Given the description of an element on the screen output the (x, y) to click on. 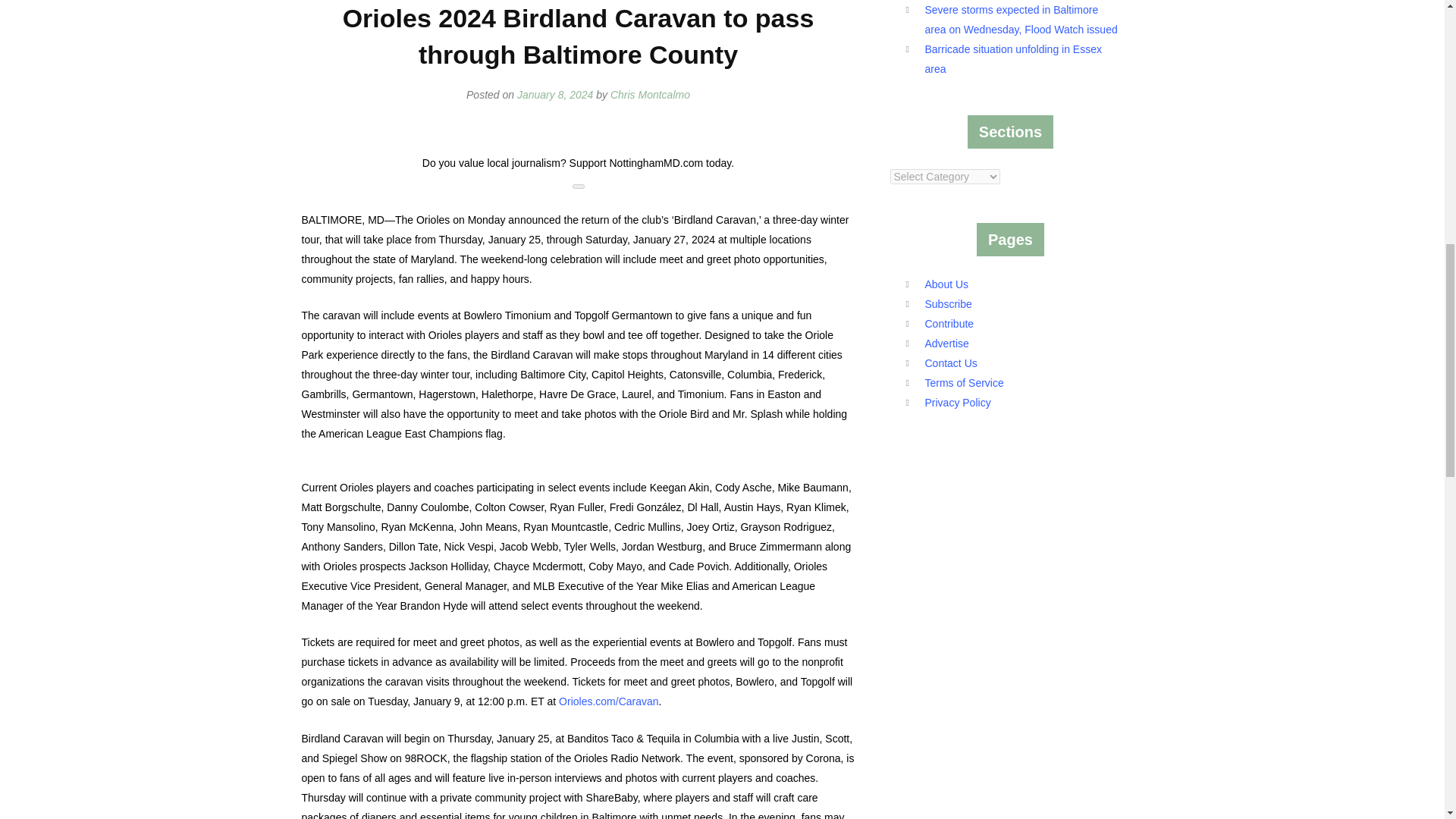
January 8, 2024 (554, 94)
Chris Montcalmo (650, 94)
